Given the description of an element on the screen output the (x, y) to click on. 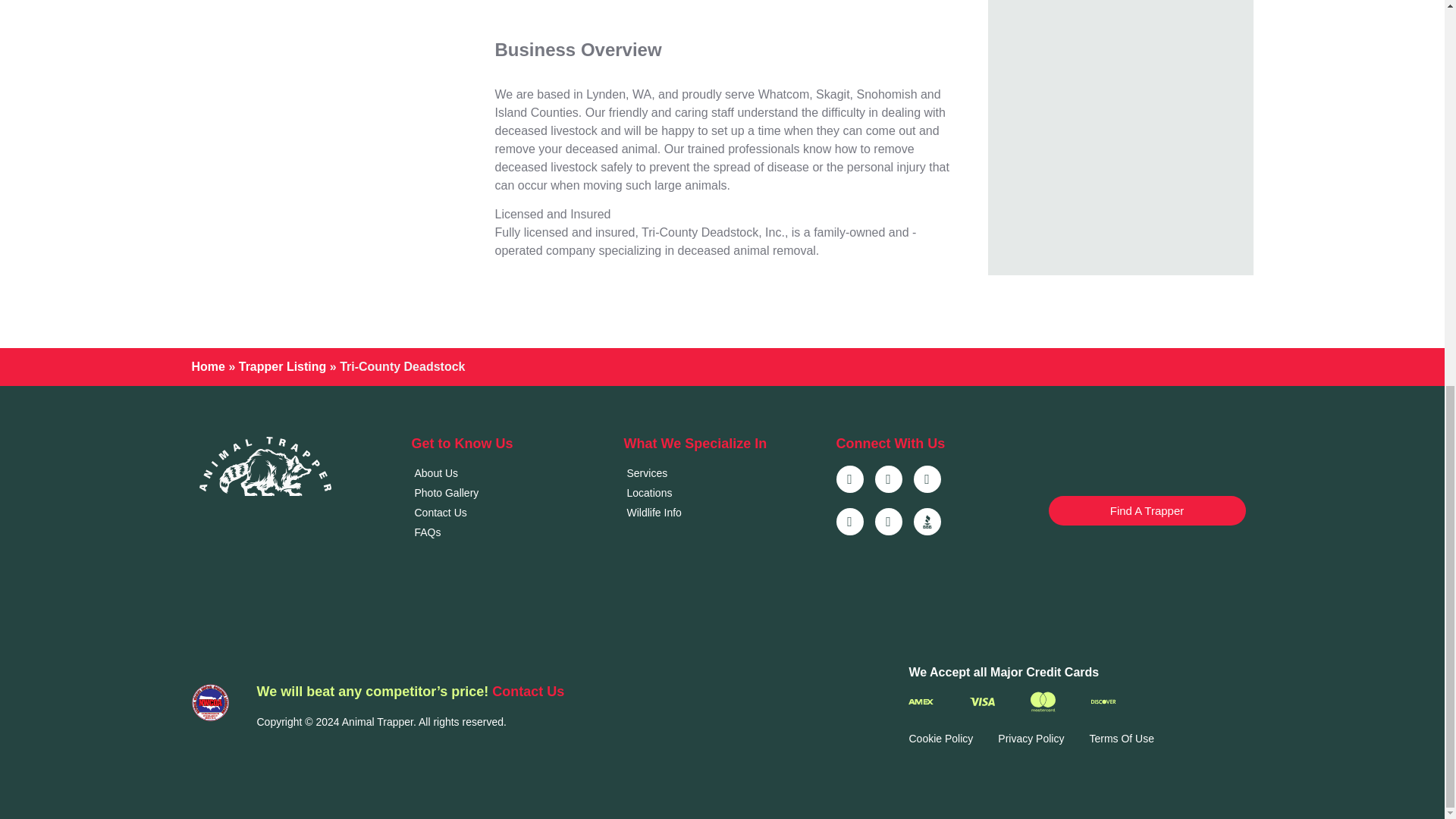
Services (722, 473)
About Us (509, 473)
Locations (722, 493)
FAQs (509, 532)
Home (207, 366)
Find A Trapper (1146, 510)
Contact Us (509, 512)
Trapper Listing (282, 366)
Wildlife Info (722, 512)
Photo Gallery (509, 493)
